Given the description of an element on the screen output the (x, y) to click on. 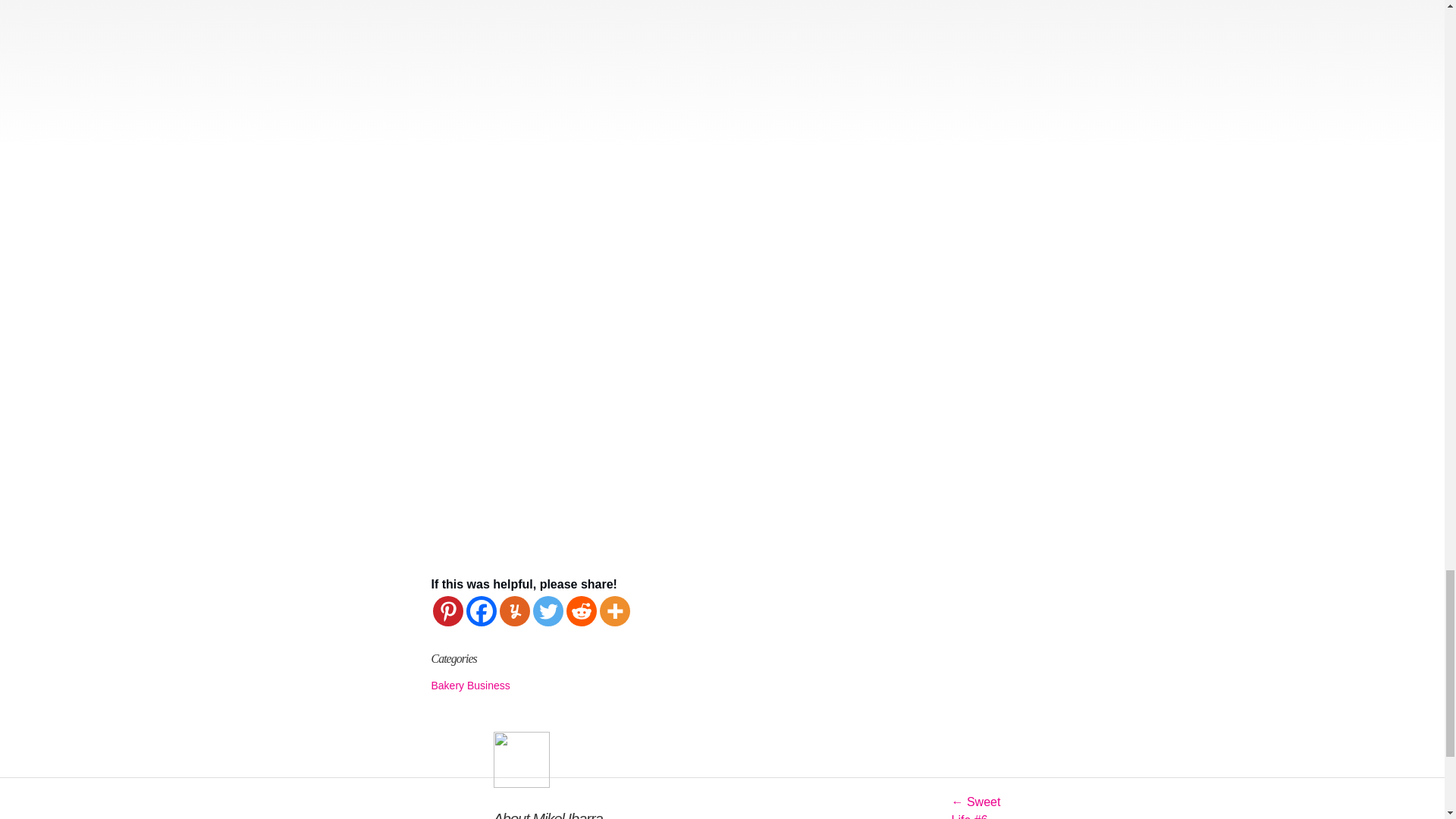
Yummly (514, 611)
Reddit (580, 611)
More (613, 611)
Twitter (547, 611)
Pinterest (447, 611)
Bakery Business (469, 685)
Facebook (480, 611)
